Given the description of an element on the screen output the (x, y) to click on. 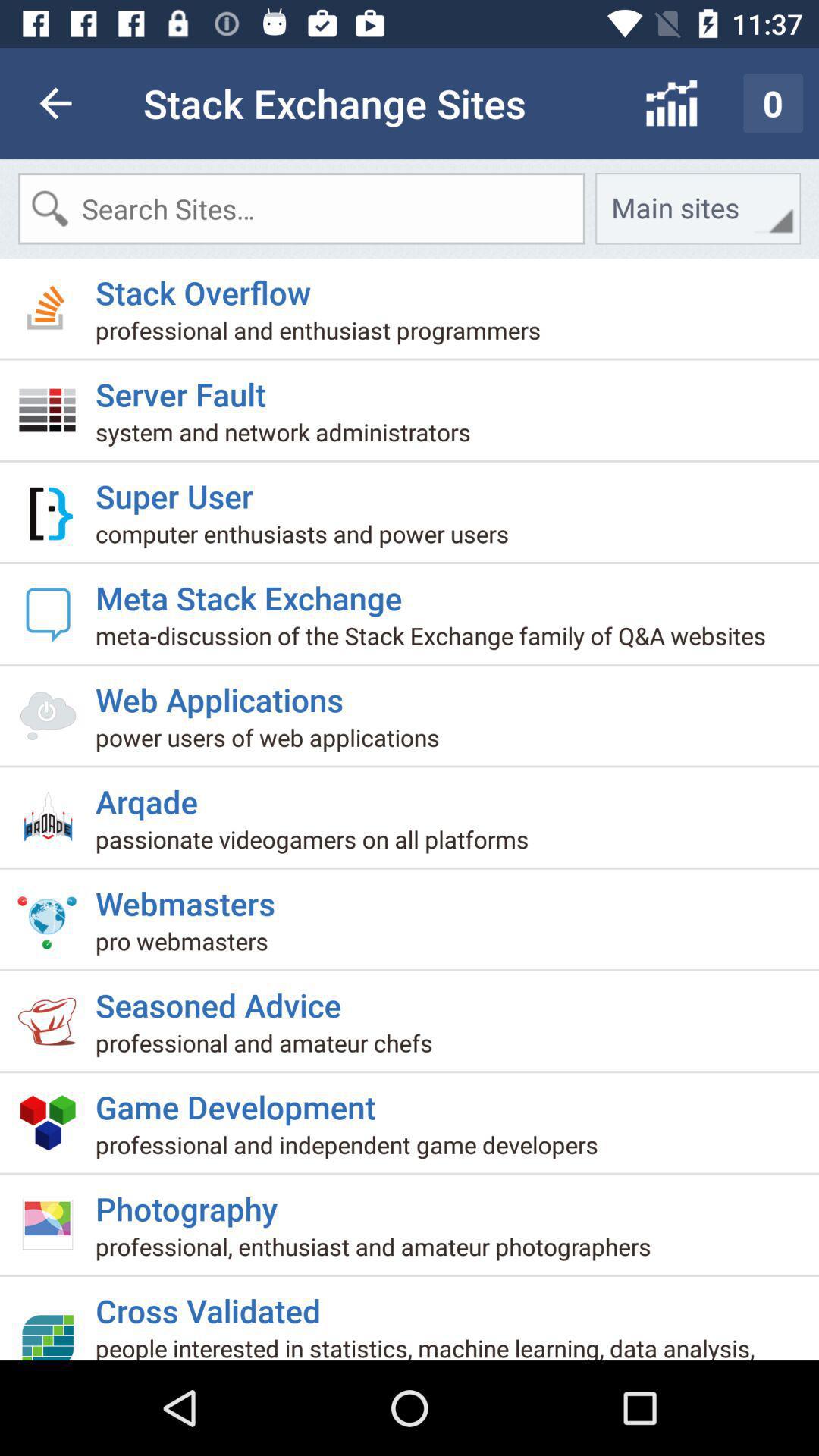
select the icon above computer enthusiasts and item (180, 489)
